Given the description of an element on the screen output the (x, y) to click on. 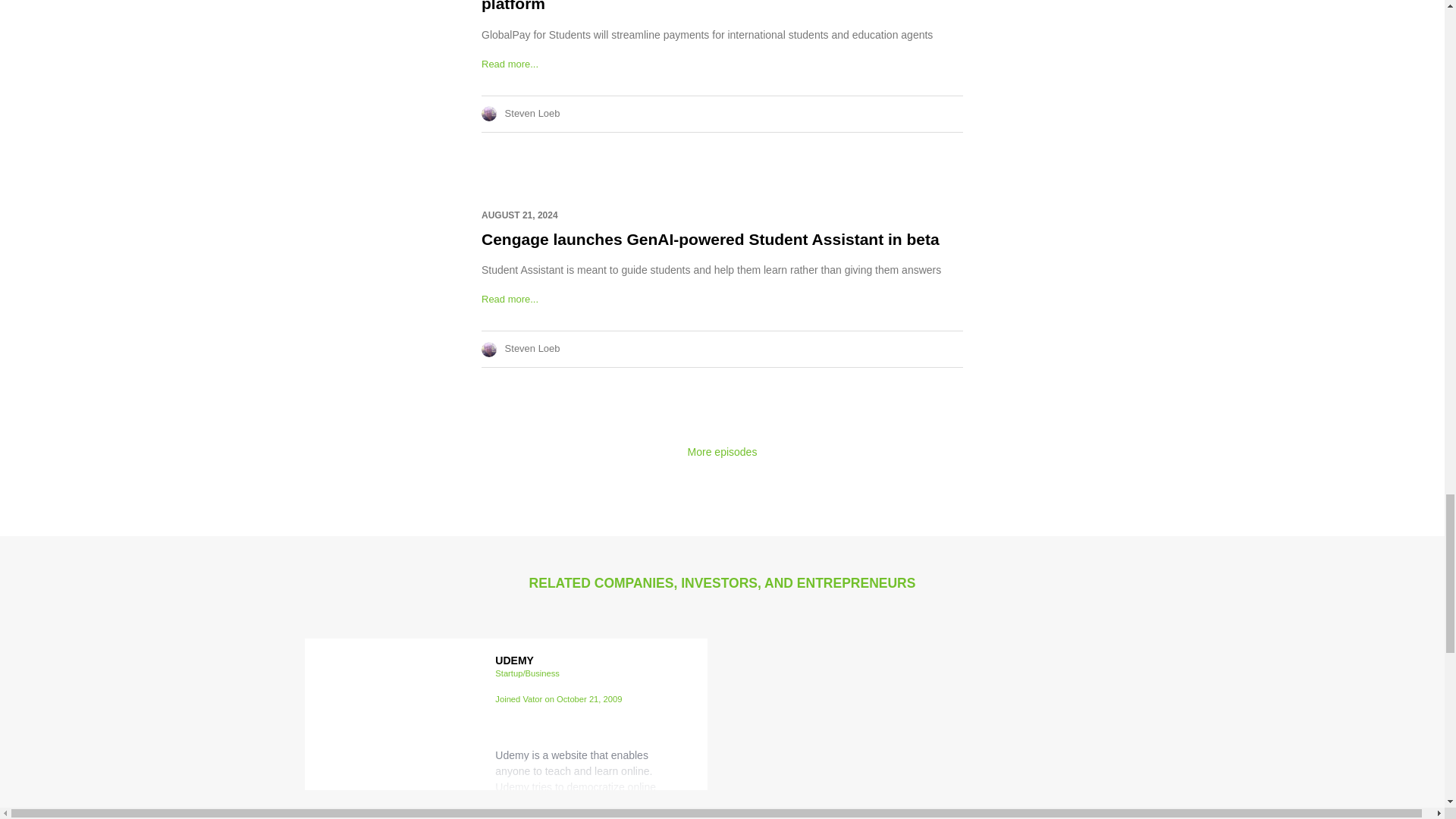
Read more... (509, 63)
Read more... (509, 298)
UDEMY (514, 660)
More episodes (722, 451)
Cengage launches GenAI-powered Student Assistant in beta (710, 239)
